Given the description of an element on the screen output the (x, y) to click on. 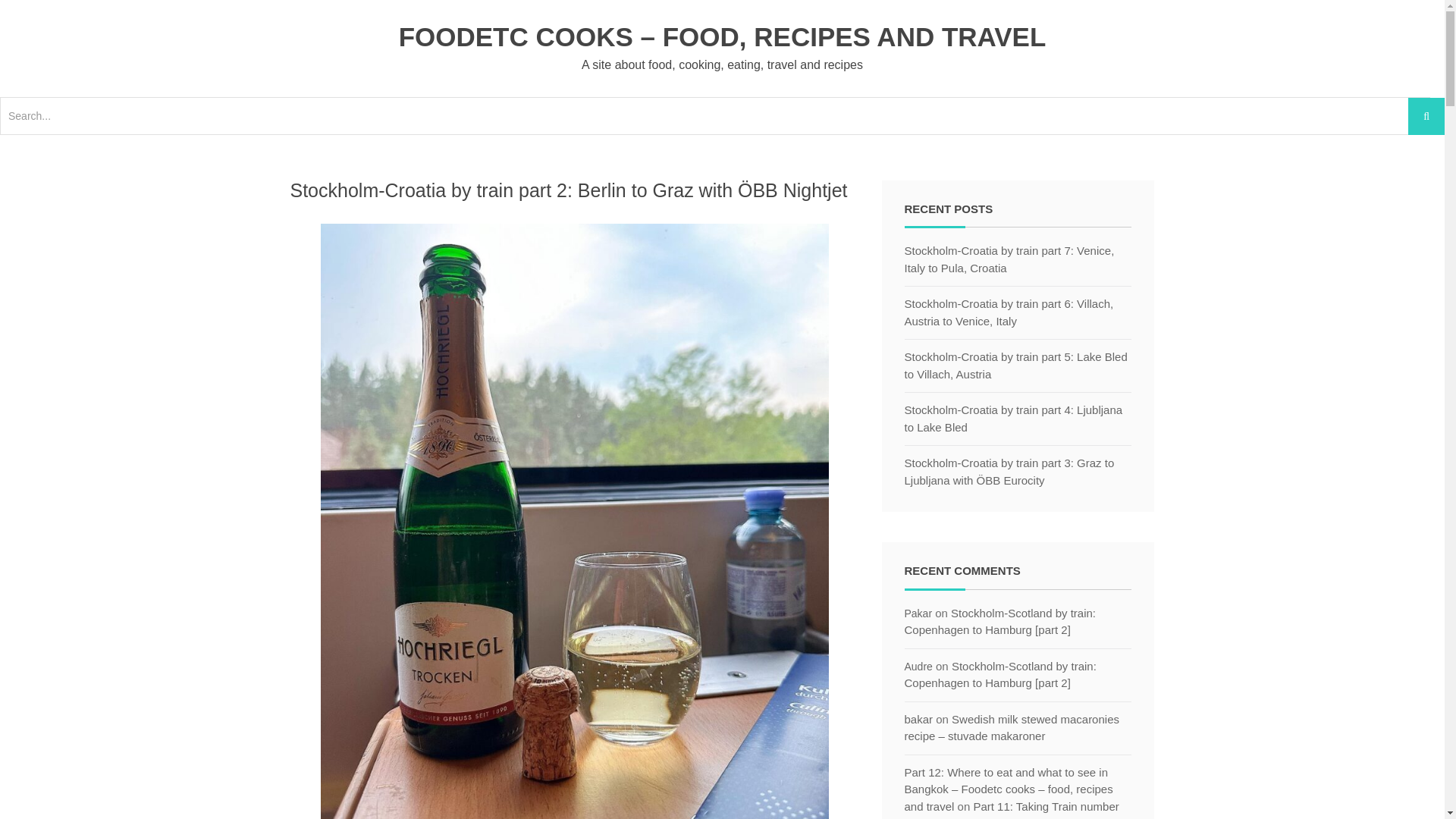
Stockholm-Croatia by train part 4: Ljubljana to Lake Bled (1017, 418)
bakar (918, 718)
